Given the description of an element on the screen output the (x, y) to click on. 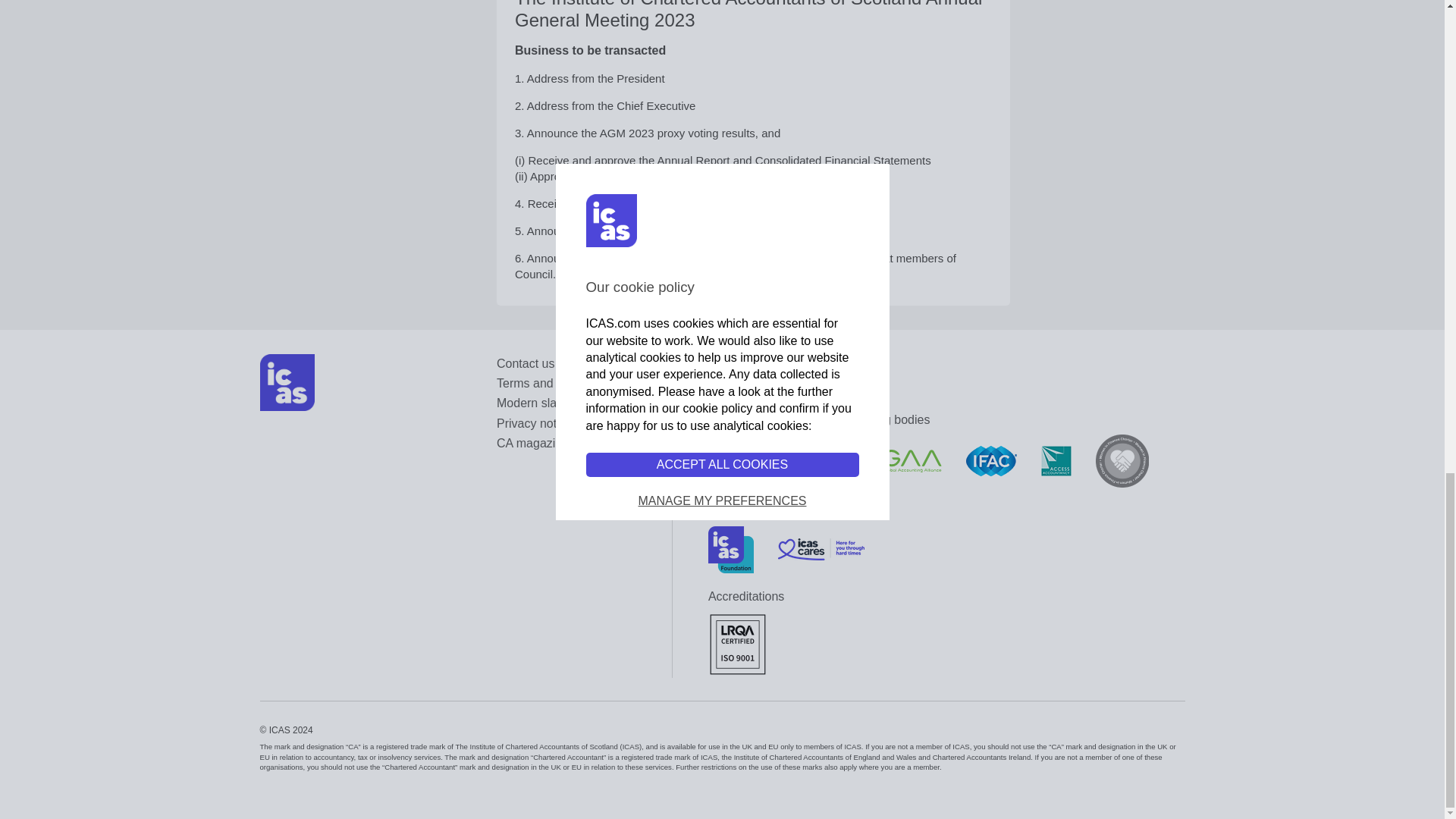
ICAS Cares (820, 549)
Twitter Icon (744, 387)
Access Accountancy (1056, 460)
Consultative Committee of Accountancy Bodies (745, 460)
Women in Finance Charter (1122, 460)
ISO 9001 - RGB (737, 643)
ICAS Foundation (730, 549)
International Federation of Accountants (991, 460)
Chartered Accountants Worldwide (831, 460)
